Given the description of an element on the screen output the (x, y) to click on. 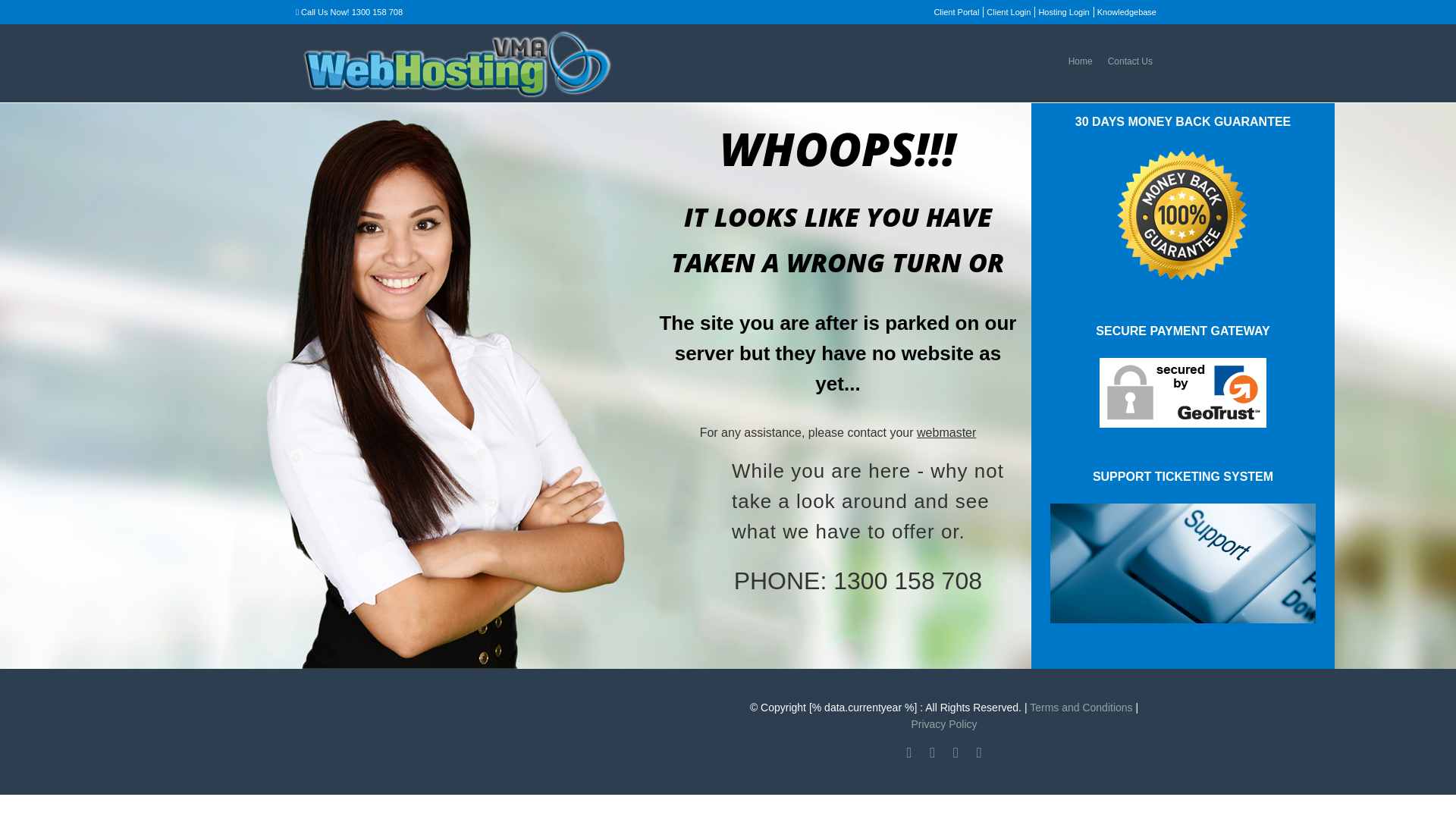
Terms and Conditions Element type: text (1080, 707)
Home Element type: text (1080, 61)
Privacy Policy Element type: text (943, 724)
YouTube Element type: hover (955, 752)
1300 158 708 Element type: text (907, 580)
Hosting Login Element type: text (1063, 11)
LinkedIn Element type: hover (979, 752)
Client Login Element type: text (1008, 11)
Knowledgebase Element type: text (1126, 11)
Twitter Element type: hover (909, 752)
Facebook Element type: hover (932, 752)
1300 158 708 Element type: text (376, 11)
Client Portal Element type: text (955, 11)
Contact Us Element type: text (1130, 61)
webmaster Element type: text (945, 432)
